Given the description of an element on the screen output the (x, y) to click on. 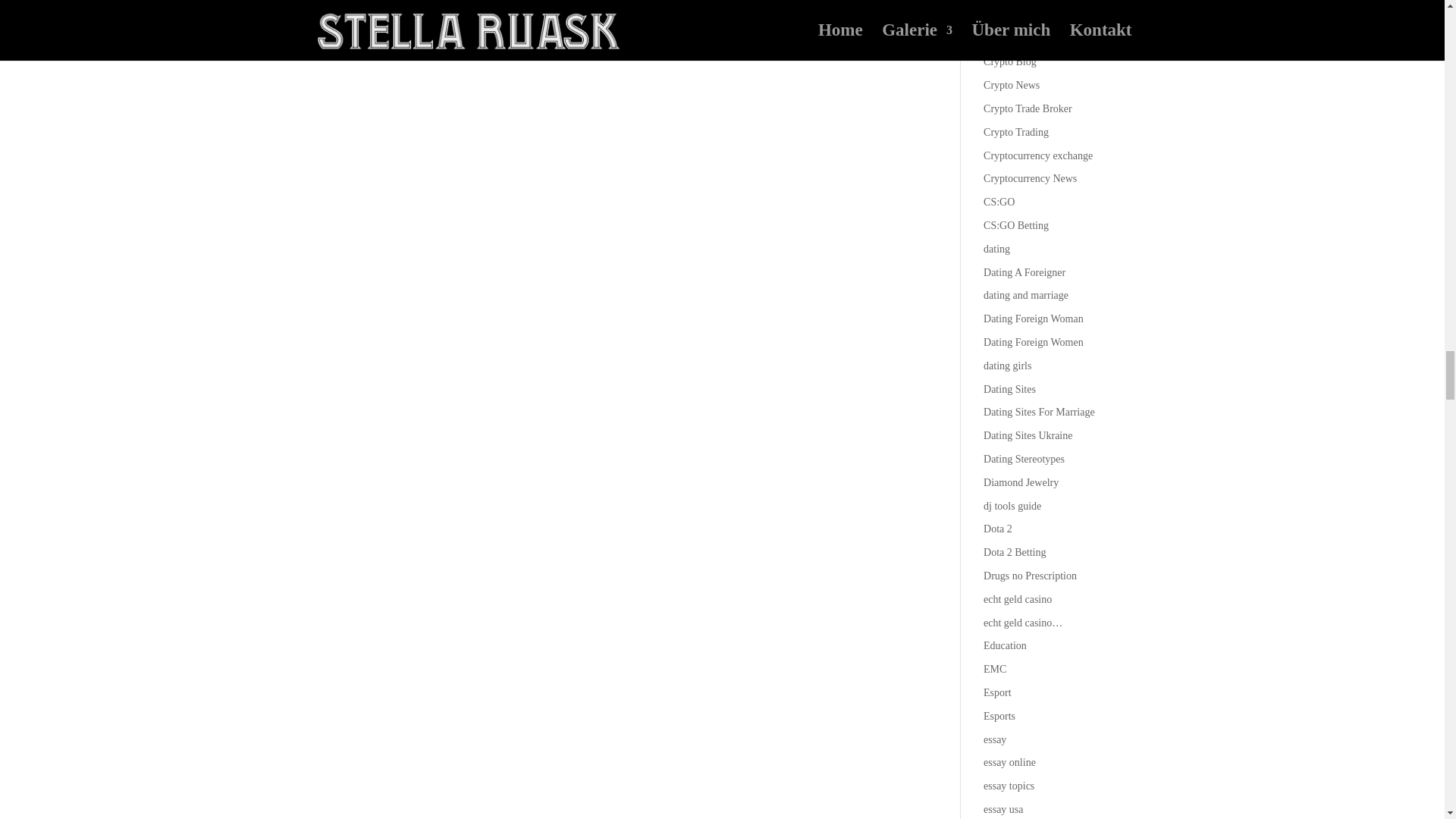
Computers, Games (1024, 15)
